Given the description of an element on the screen output the (x, y) to click on. 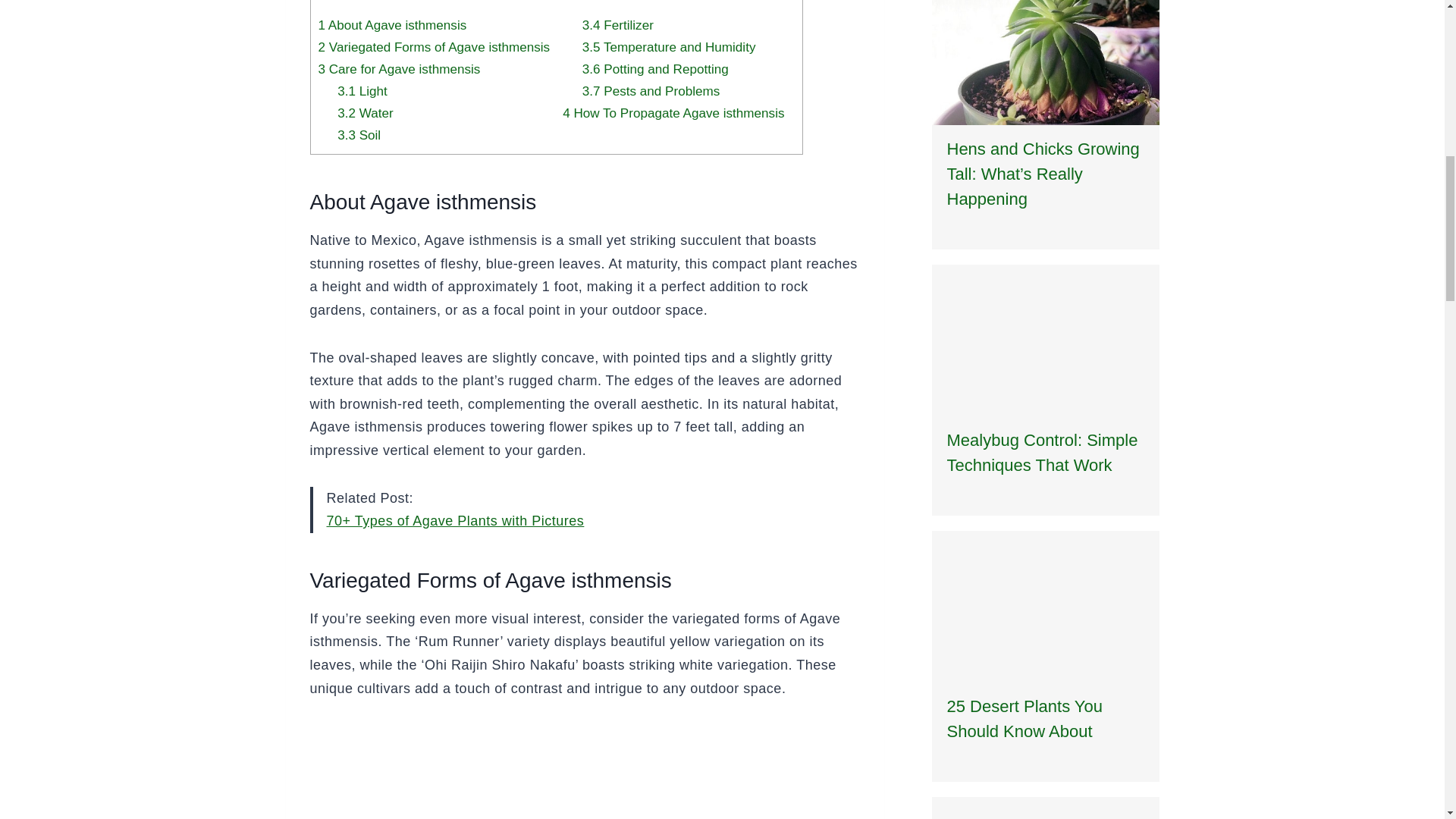
3.3 Soil (358, 134)
3.5 Temperature and Humidity (668, 47)
3.4 Fertilizer (617, 25)
2 Variegated Forms of Agave isthmensis (434, 47)
4 How To Propagate Agave isthmensis (673, 113)
3.6 Potting and Repotting (655, 69)
3.1 Light (362, 91)
Mealybug Control: Simple Techniques That Work (1041, 452)
3 Care for Agave isthmensis (399, 69)
3.2 Water (365, 113)
3.7 Pests and Problems (650, 91)
1 About Agave isthmensis (392, 25)
